Given the description of an element on the screen output the (x, y) to click on. 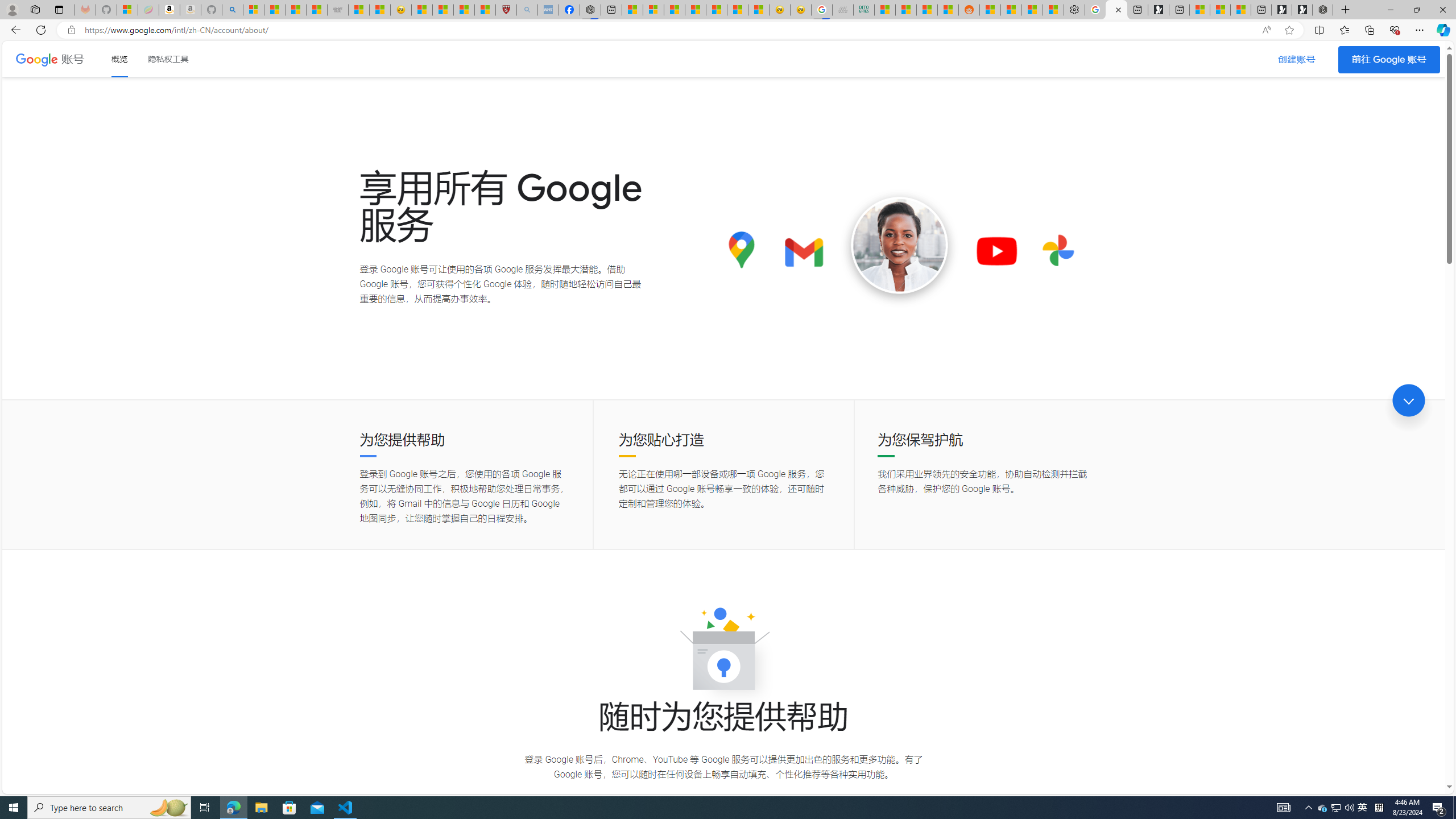
These 3 Stocks Pay You More Than 5% to Own Them (1240, 9)
Fitness - MSN (716, 9)
